Given the description of an element on the screen output the (x, y) to click on. 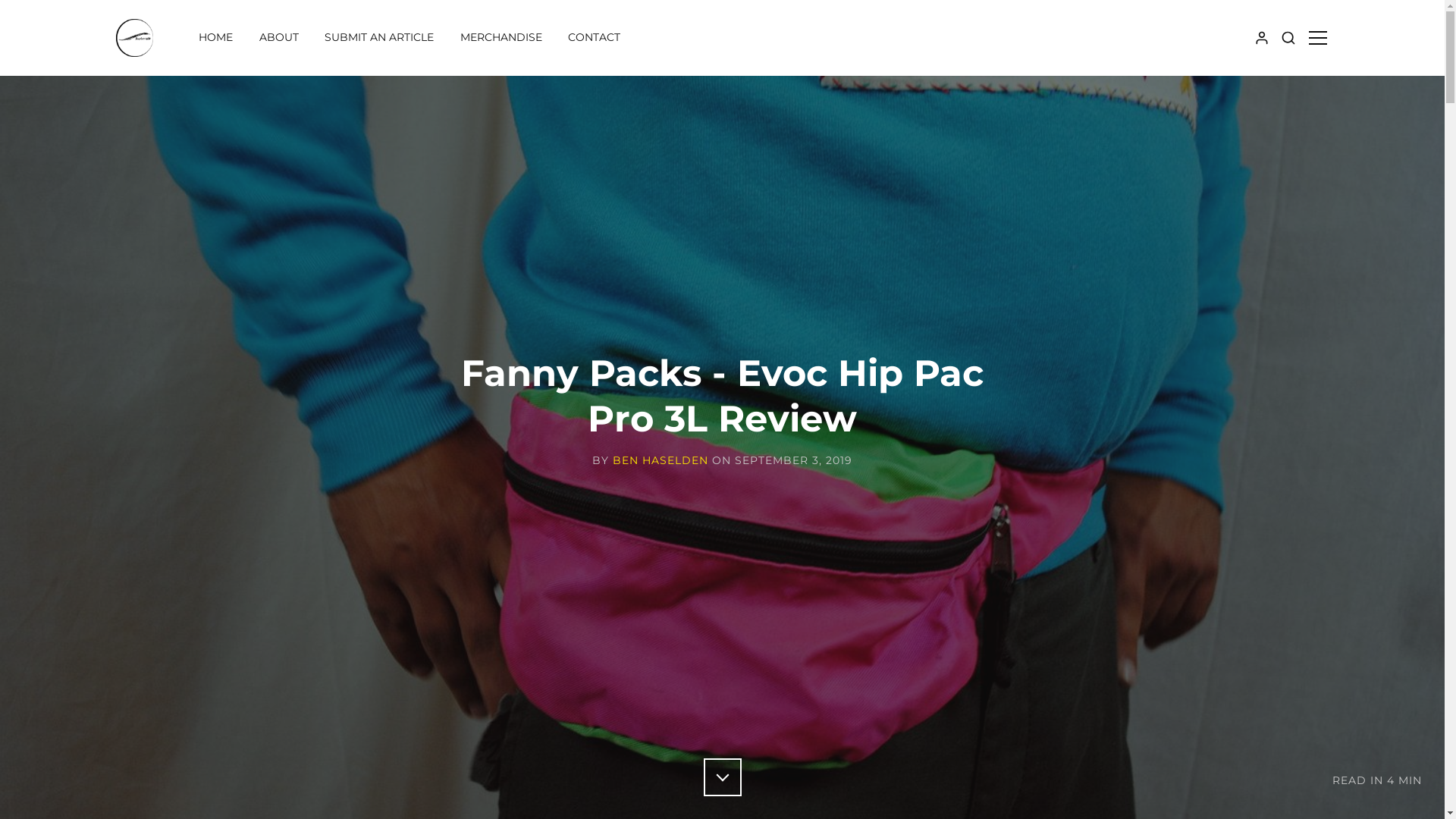
SHOW SIDEBAR Element type: text (1316, 37)
CONTACT Element type: text (593, 37)
Scroll Down Element type: text (722, 777)
SUBMIT AN ARTICLE Element type: text (379, 37)
MERCHANDISE Element type: text (500, 37)
ABOUT Element type: text (278, 37)
3XPLORENZ Element type: text (186, 70)
SHOW SEARCH Element type: text (1288, 37)
HOME Element type: text (215, 37)
BEN HASELDEN Element type: text (660, 460)
